Given the description of an element on the screen output the (x, y) to click on. 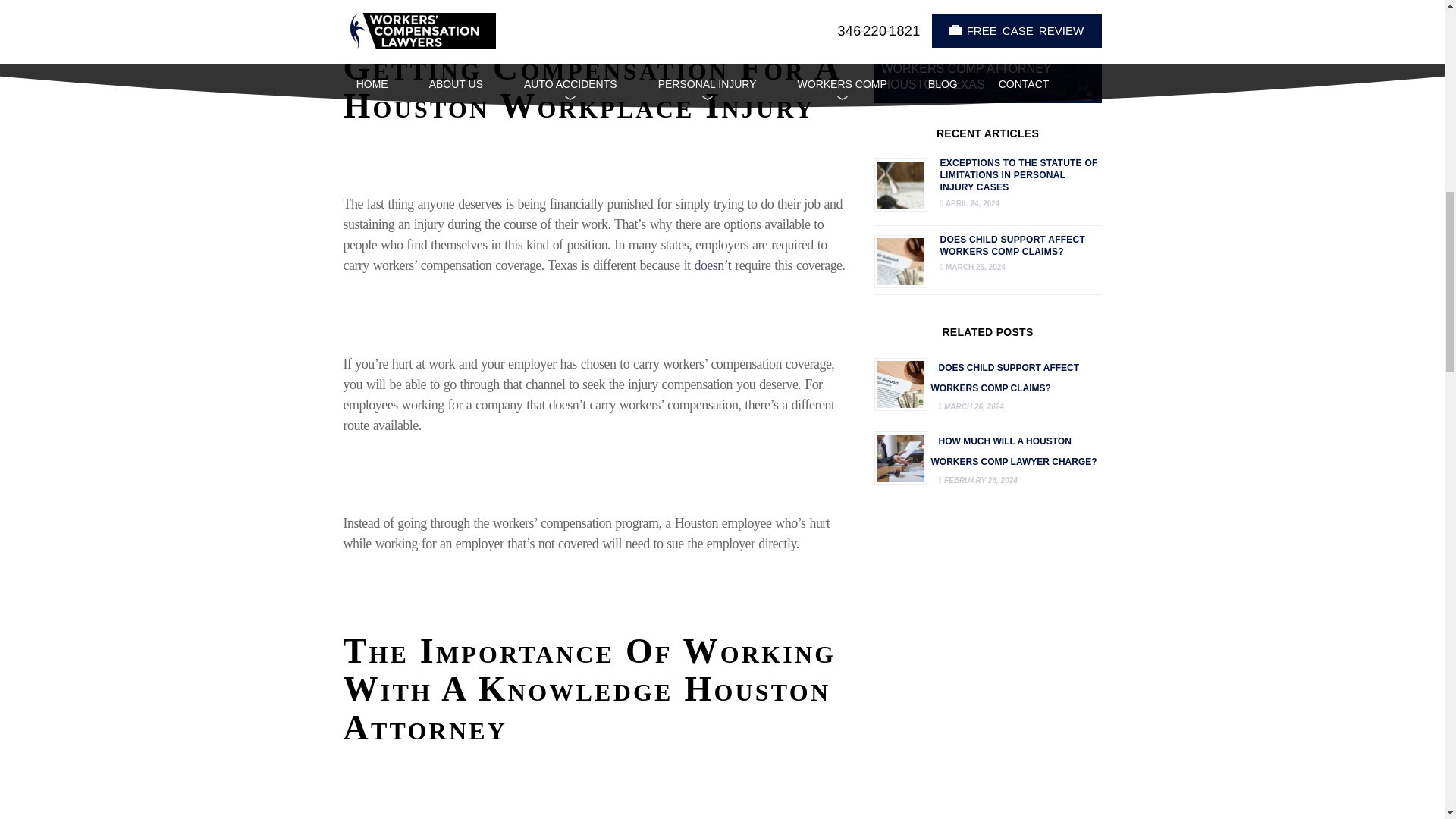
How Much Will a Houston Workers Comp Lawyer Charge? (899, 456)
Does Child Support Affect Workers Comp Claims? (899, 382)
Permalink to Does Child Support Affect Workers Comp Claims? (1013, 245)
Does Child Support Affect Workers Comp Claims? (1005, 377)
How Much Will a Houston Workers Comp Lawyer Charge? (1014, 450)
